Given the description of an element on the screen output the (x, y) to click on. 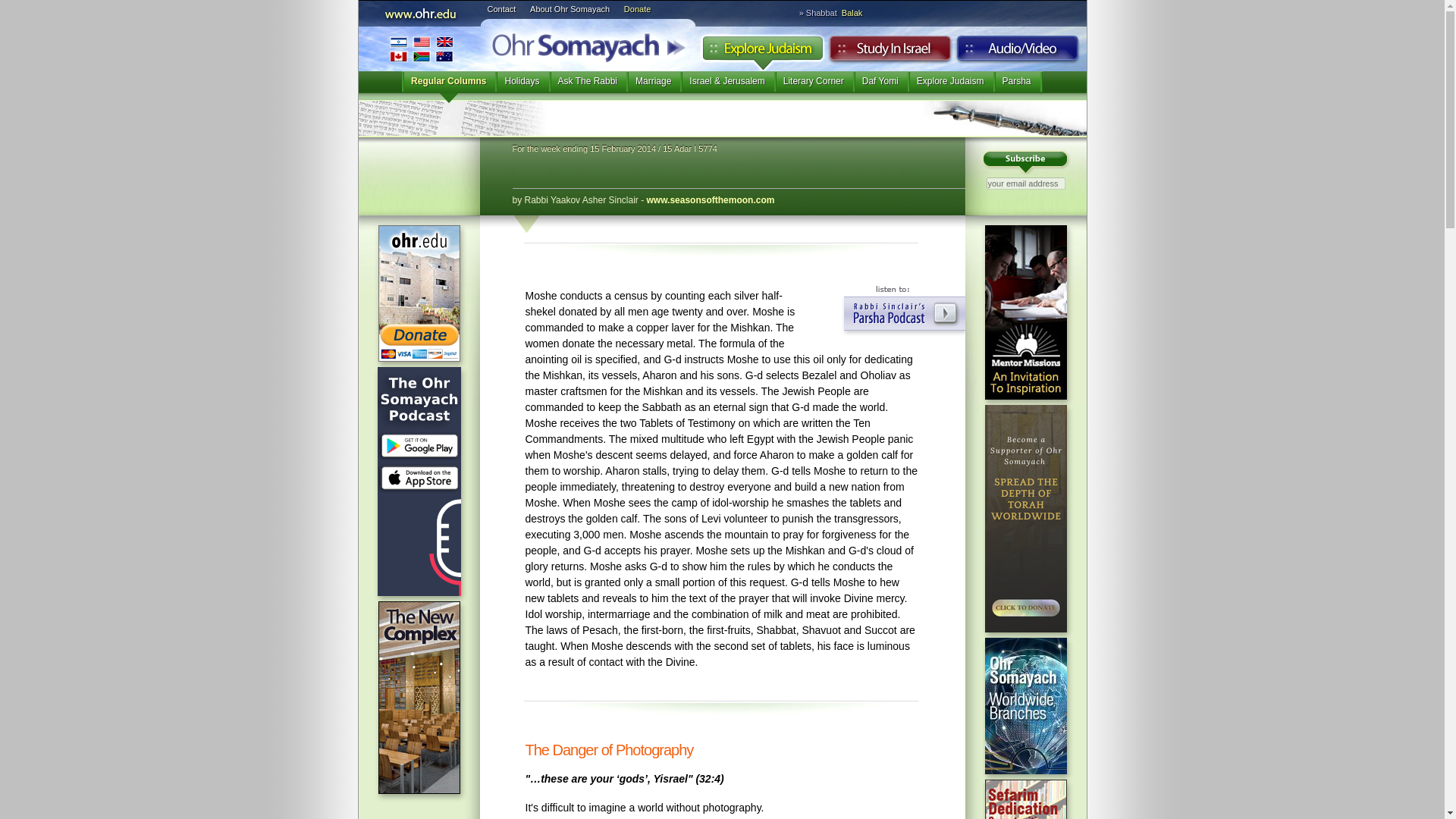
Marriage (652, 87)
www.seasonsofthemoon.com (710, 199)
Balak (851, 12)
Regular Columns (448, 87)
Explore Judaism (761, 52)
Donate (637, 8)
Audio (1017, 52)
Daf Yomi (880, 87)
International Branches (420, 49)
Holidays (521, 87)
Parsha (1016, 87)
Explore Judaism (949, 87)
your email address (1024, 183)
Literary Corner (813, 87)
International Branches (420, 49)
